Given the description of an element on the screen output the (x, y) to click on. 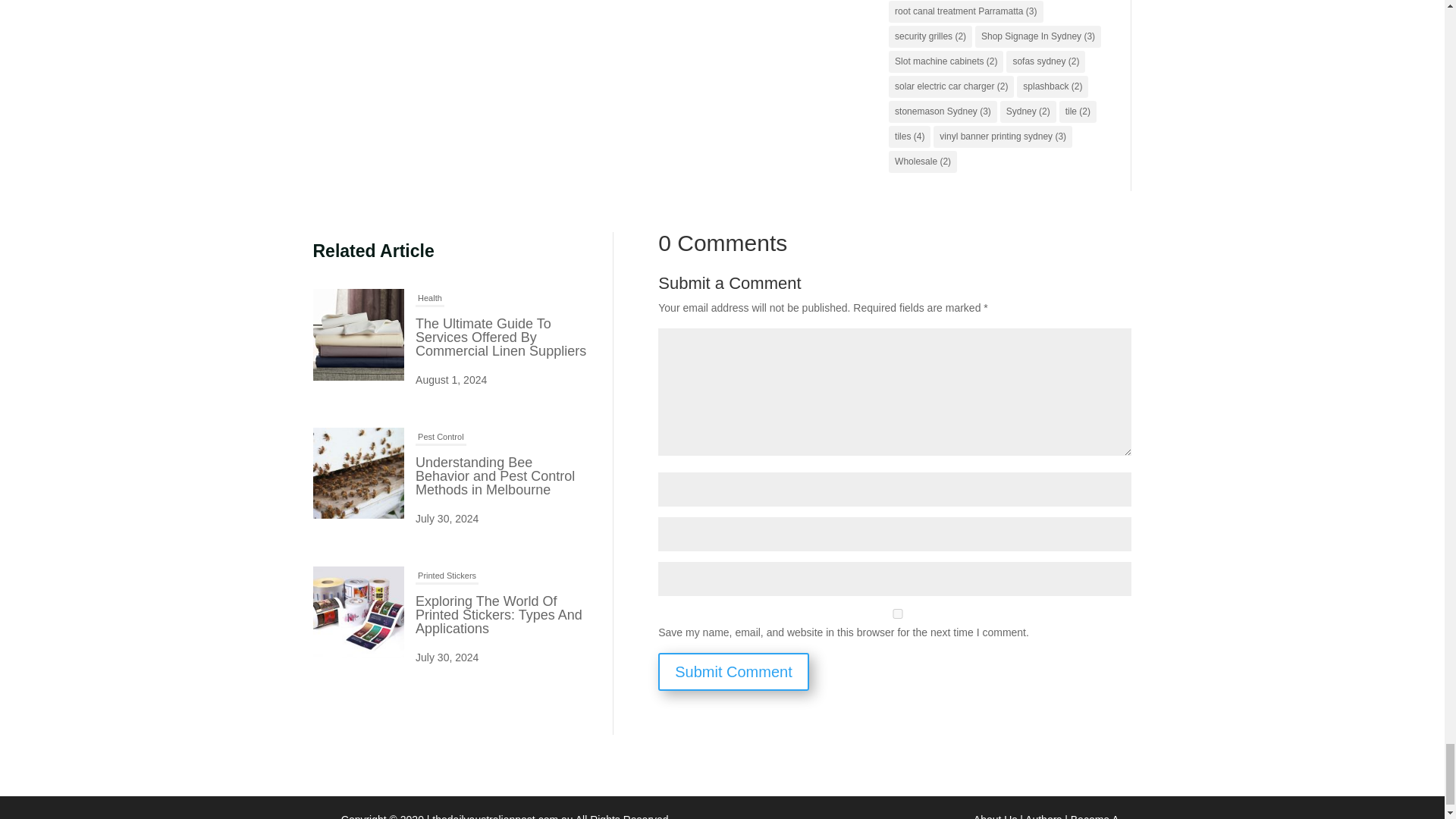
yes (897, 614)
